Given the description of an element on the screen output the (x, y) to click on. 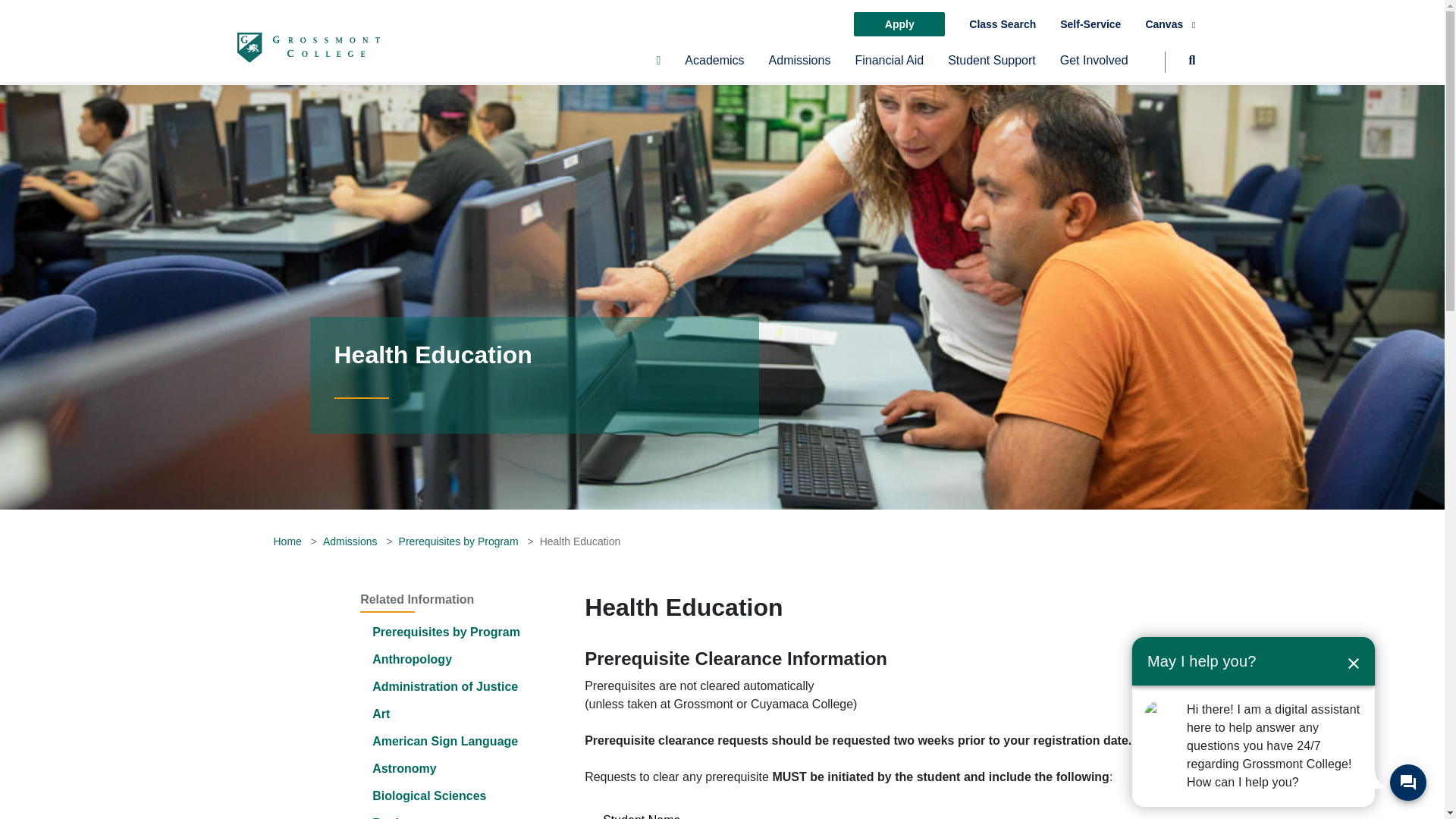
Class Search (1002, 23)
Student Support (991, 66)
Academics (714, 66)
grossmont.edu (306, 47)
Home (287, 541)
Art (381, 713)
Admissions (799, 66)
Self-Service (1090, 23)
Academics (714, 66)
American Sign Language (445, 740)
